Given the description of an element on the screen output the (x, y) to click on. 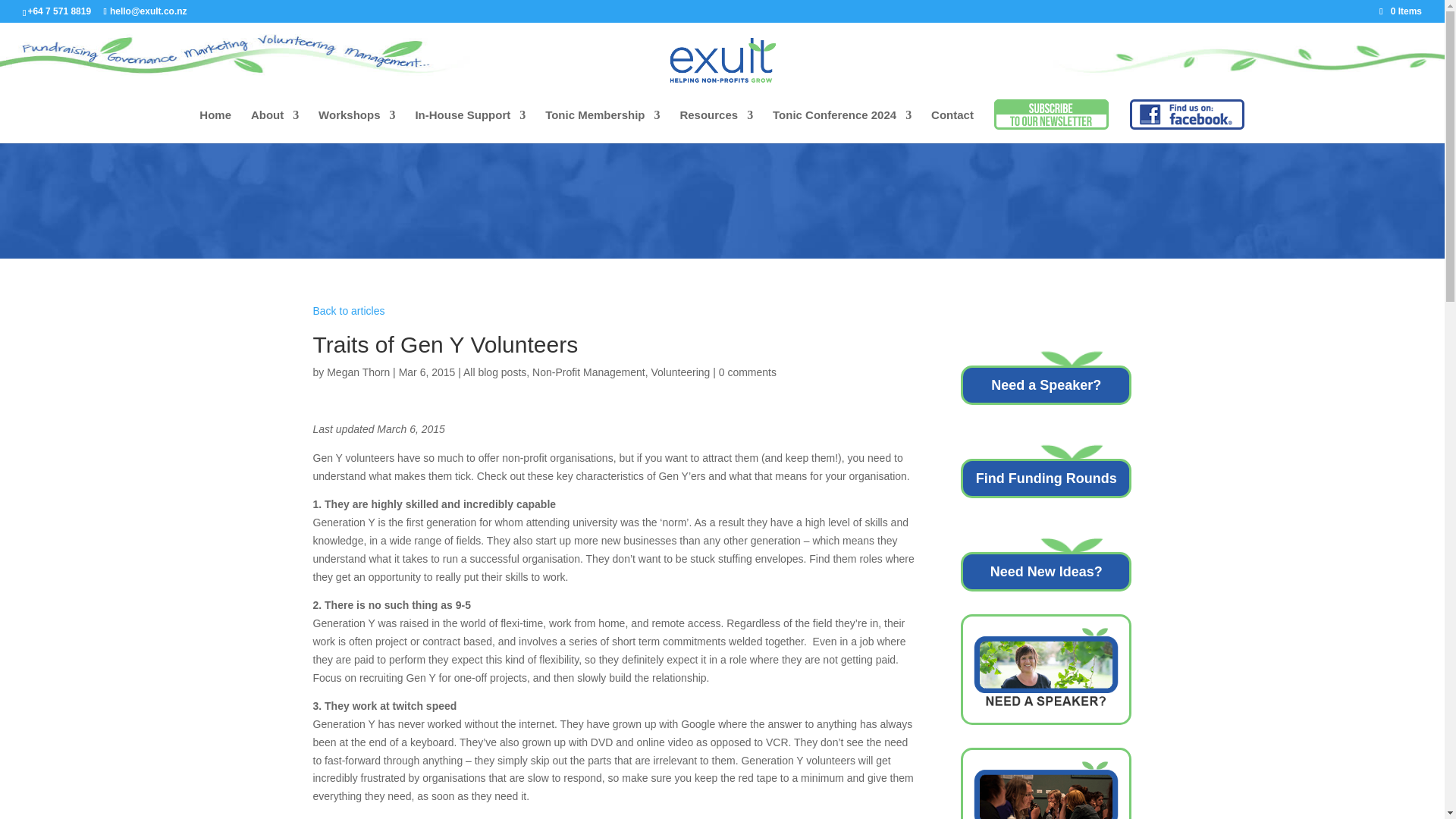
Resources (715, 126)
In-House Support (469, 126)
0 Items (1400, 10)
Posts by Megan Thorn (358, 372)
Home (215, 126)
Workshops (356, 126)
About (274, 126)
Tonic Membership (601, 126)
